Given the description of an element on the screen output the (x, y) to click on. 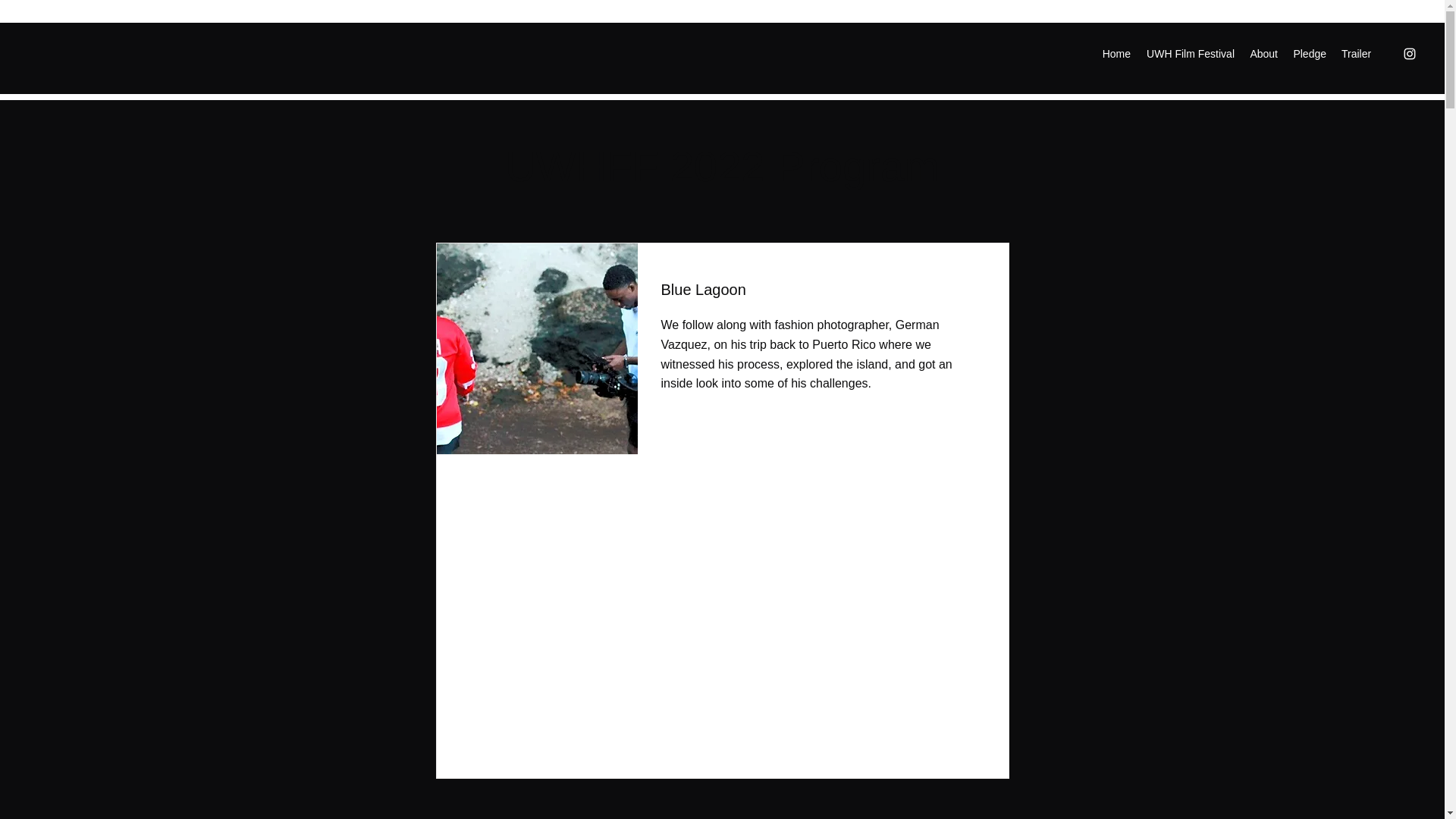
UWH Film Festival (1189, 53)
Home (1116, 53)
About (1263, 53)
Pledge (1309, 53)
Trailer (1355, 53)
